Given the description of an element on the screen output the (x, y) to click on. 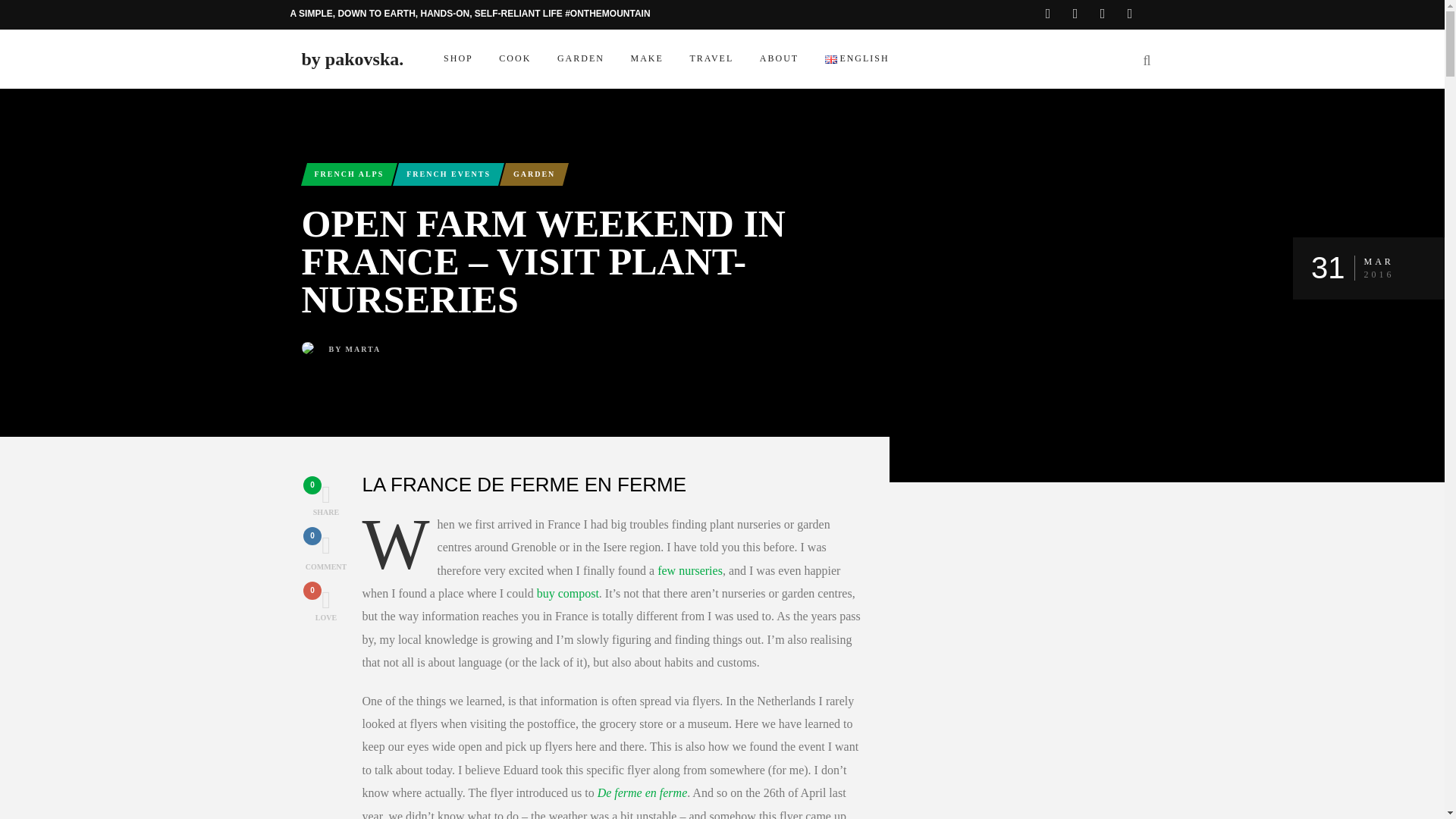
Posts by marta (363, 348)
by pakovska. (352, 58)
COOK (515, 58)
More garden Posts (533, 173)
SHOP (457, 58)
More french events Posts (447, 173)
More french alps Posts (348, 173)
GARDEN (580, 58)
